Given the description of an element on the screen output the (x, y) to click on. 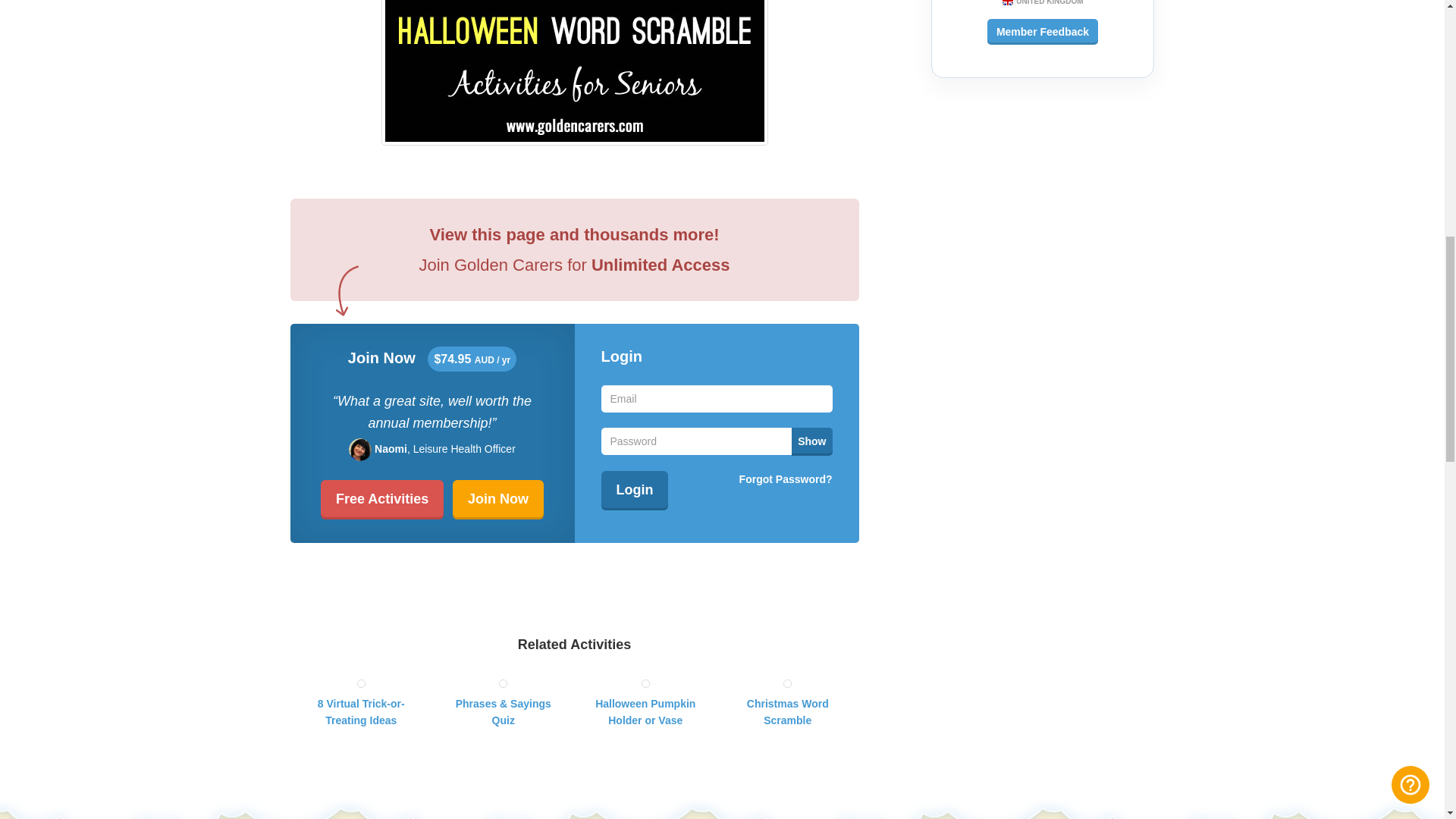
Login (633, 490)
Halloween Pumpkin Holder or Vase (644, 702)
Free Activities (382, 499)
Show (811, 441)
Christmas Word Scramble (787, 702)
Join Now (497, 499)
Reset your password (785, 478)
8 Virtual Trick-or-Treating Ideas (361, 702)
Halloween Pumpkin Holder or Vase (644, 702)
Forgot Password? (785, 478)
8 Virtual Trick-or-Treating Ideas (361, 702)
Member Feedback (1042, 31)
Free Activities (382, 499)
Christmas Word Scramble (787, 702)
Golden Carers Testimonials (1042, 31)
